Given the description of an element on the screen output the (x, y) to click on. 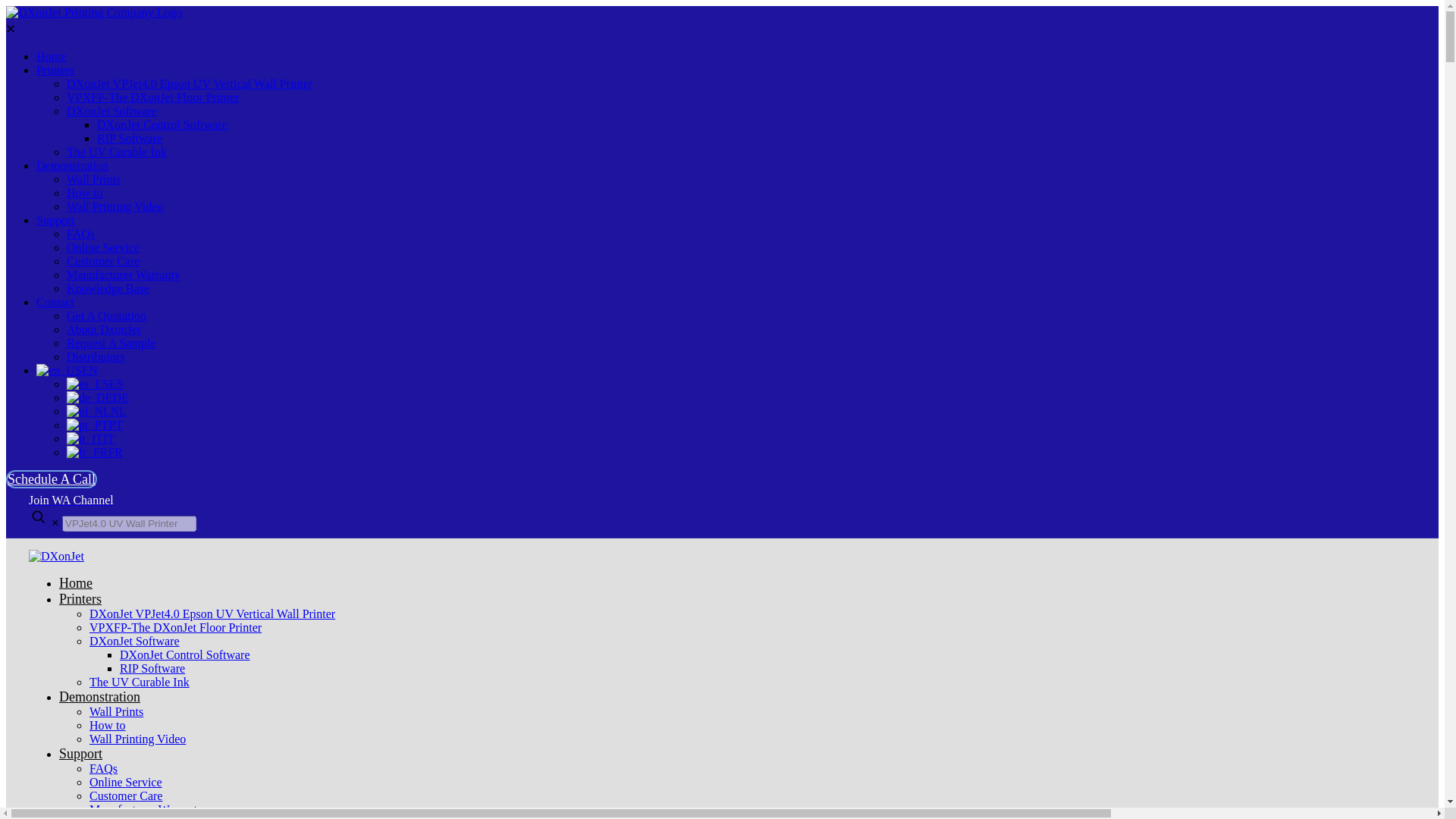
Contact (55, 301)
English (58, 370)
EN (66, 369)
Customer Care (102, 260)
Printers (55, 69)
Request A Sample (110, 342)
Portuguese (86, 425)
How to (84, 192)
Schedule A Call (51, 479)
Italian (84, 438)
Wall Prints (93, 178)
PT (94, 424)
DXonJet Software (111, 110)
RIP Software (129, 137)
Distributors (94, 356)
